Given the description of an element on the screen output the (x, y) to click on. 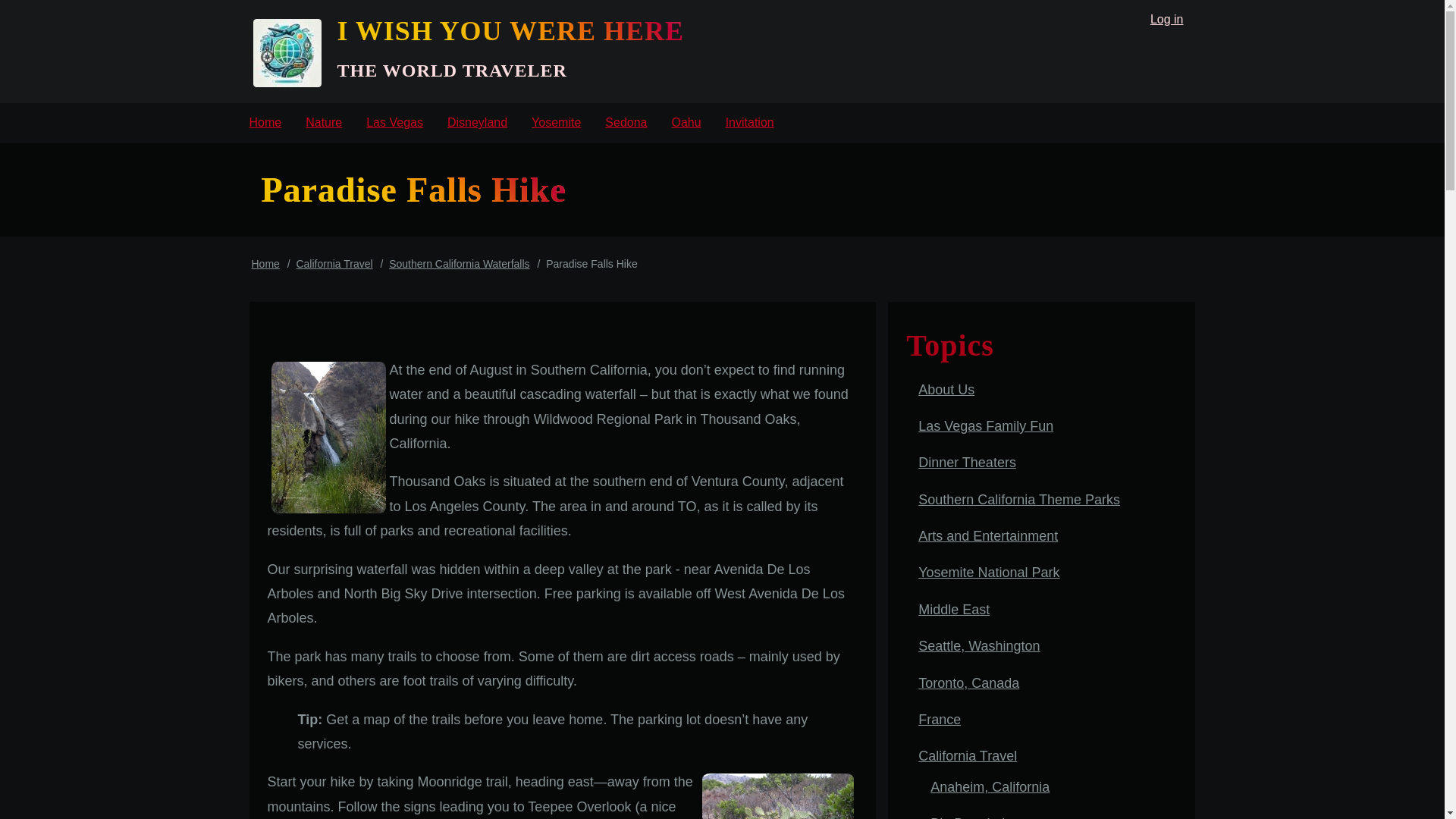
Sedona, Arizona (625, 123)
Home (264, 123)
I WISH YOU WERE HERE (509, 30)
Yosemite (555, 123)
The Disney resort, Anaheim, California (477, 123)
Home (509, 30)
Disneyland (477, 123)
Nature (323, 123)
Log in (1166, 20)
your favorite places (749, 123)
Las Vegas family fun (394, 123)
Oahu (686, 123)
California Travel (333, 263)
Invitation (749, 123)
